Given the description of an element on the screen output the (x, y) to click on. 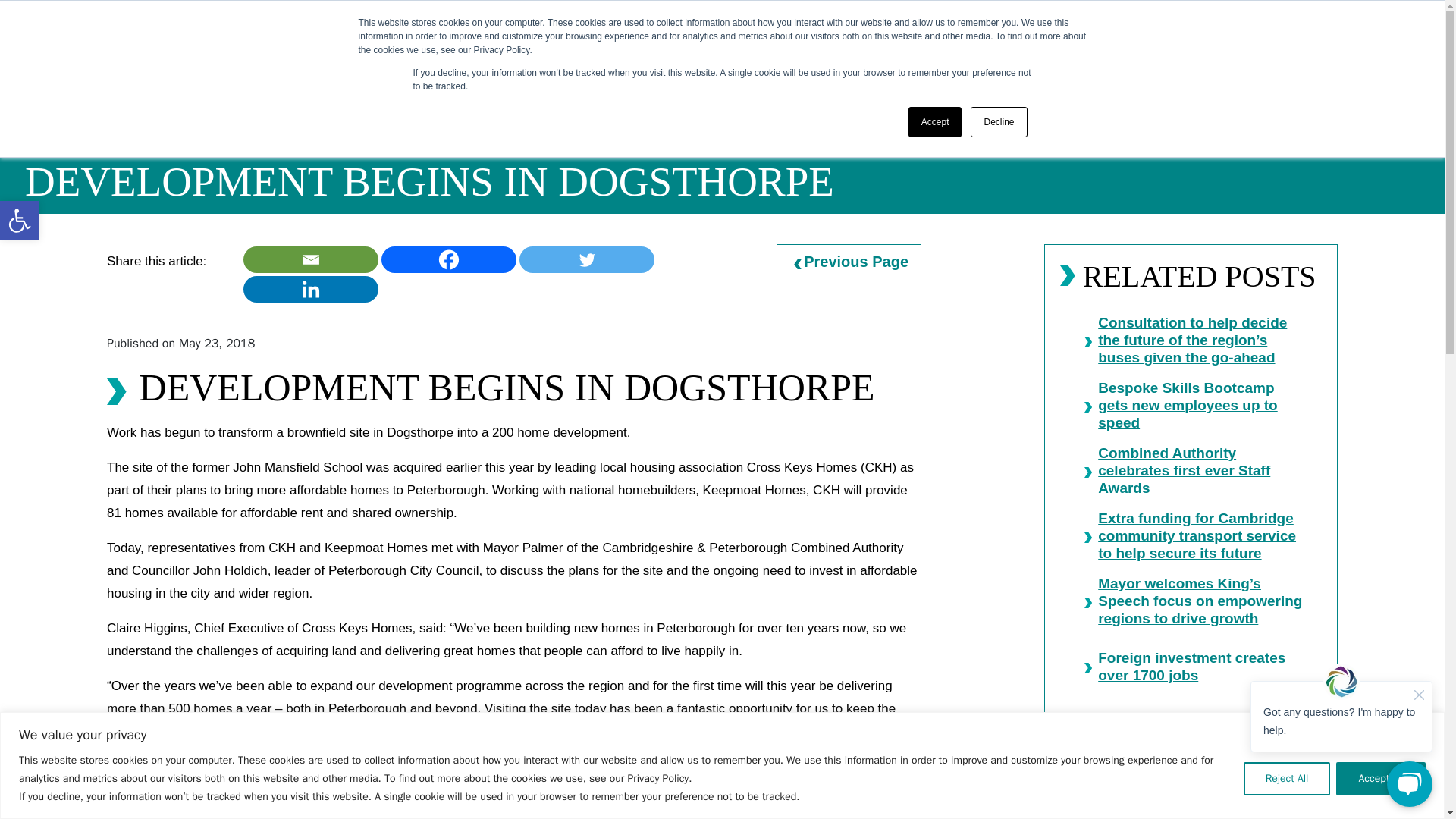
Facebook (448, 259)
Email (310, 259)
Housing (179, 102)
Affordable Housing (271, 102)
Accept All (1380, 777)
Linkedin (310, 289)
Home (123, 102)
What we deliver (761, 41)
Reject All (1286, 777)
Who we are (661, 41)
Accessibility Tools (19, 220)
Home (588, 41)
Search Button (1309, 105)
Accept (935, 122)
Contact us (1173, 41)
